Given the description of an element on the screen output the (x, y) to click on. 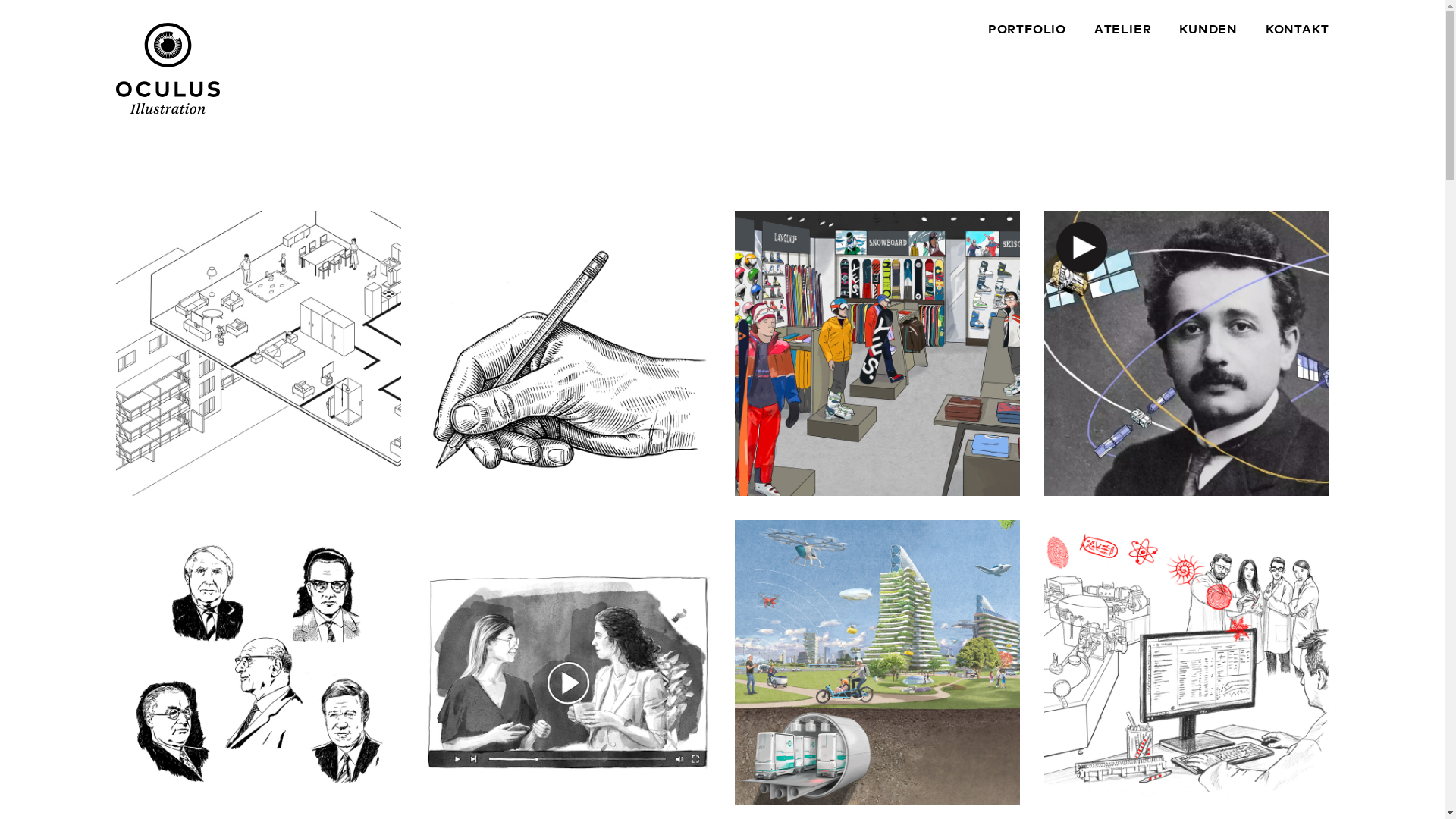
PORTFOLIO Element type: text (1027, 29)
KUNDEN Element type: text (1208, 29)
KONTAKT Element type: text (1297, 29)
ATELIER Element type: text (1122, 29)
